Given the description of an element on the screen output the (x, y) to click on. 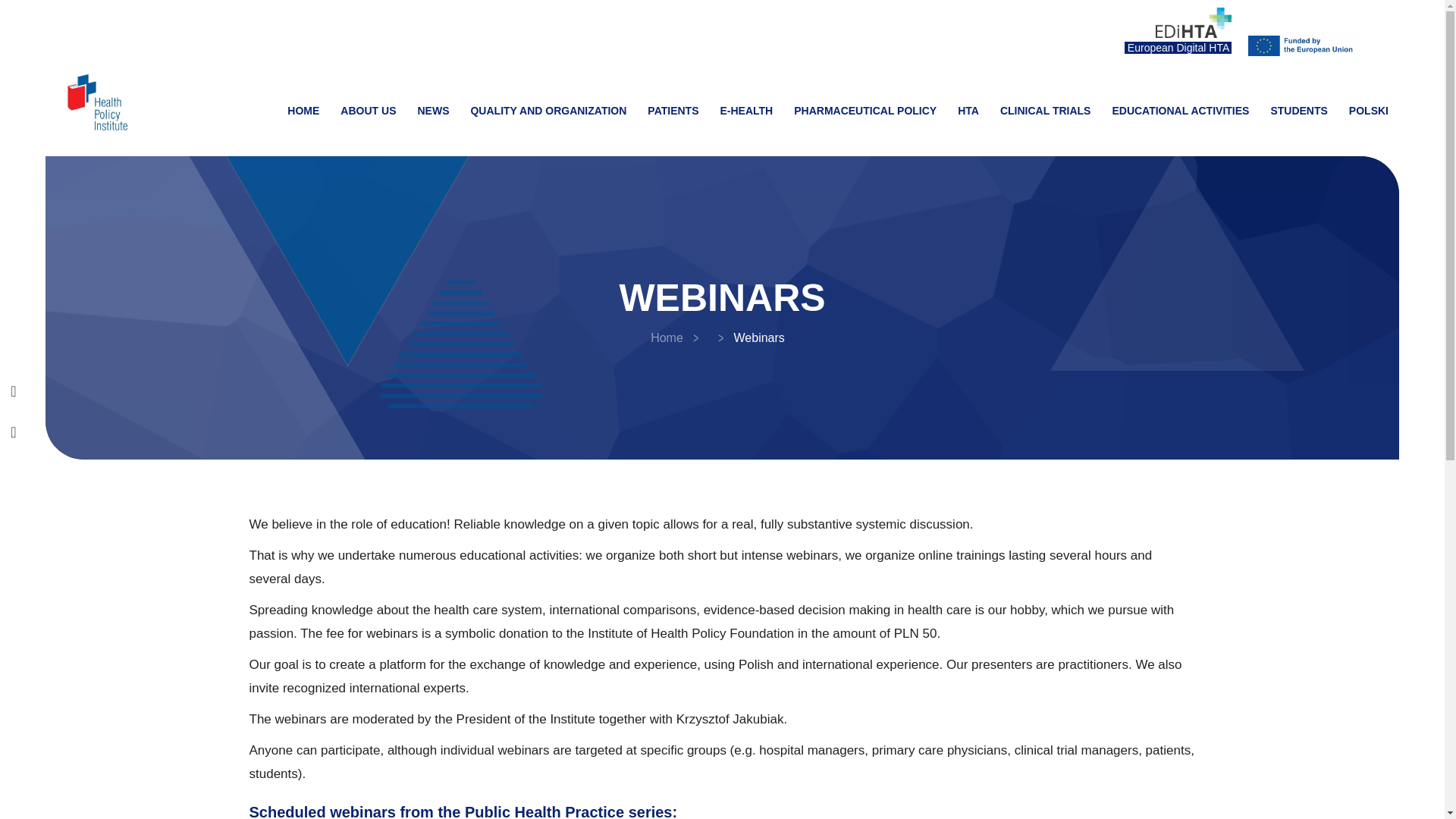
HTA (968, 110)
ABOUT US (368, 110)
E-HEALTH (746, 110)
 European Digital HTA  (1177, 47)
Go to Health Policy Institute. (666, 337)
PATIENTS (673, 110)
HOME (303, 110)
slider-5 (459, 343)
PHARMACEUTICAL POLICY (865, 110)
NEWS (433, 110)
QUALITY AND ORGANIZATION (548, 110)
